Given the description of an element on the screen output the (x, y) to click on. 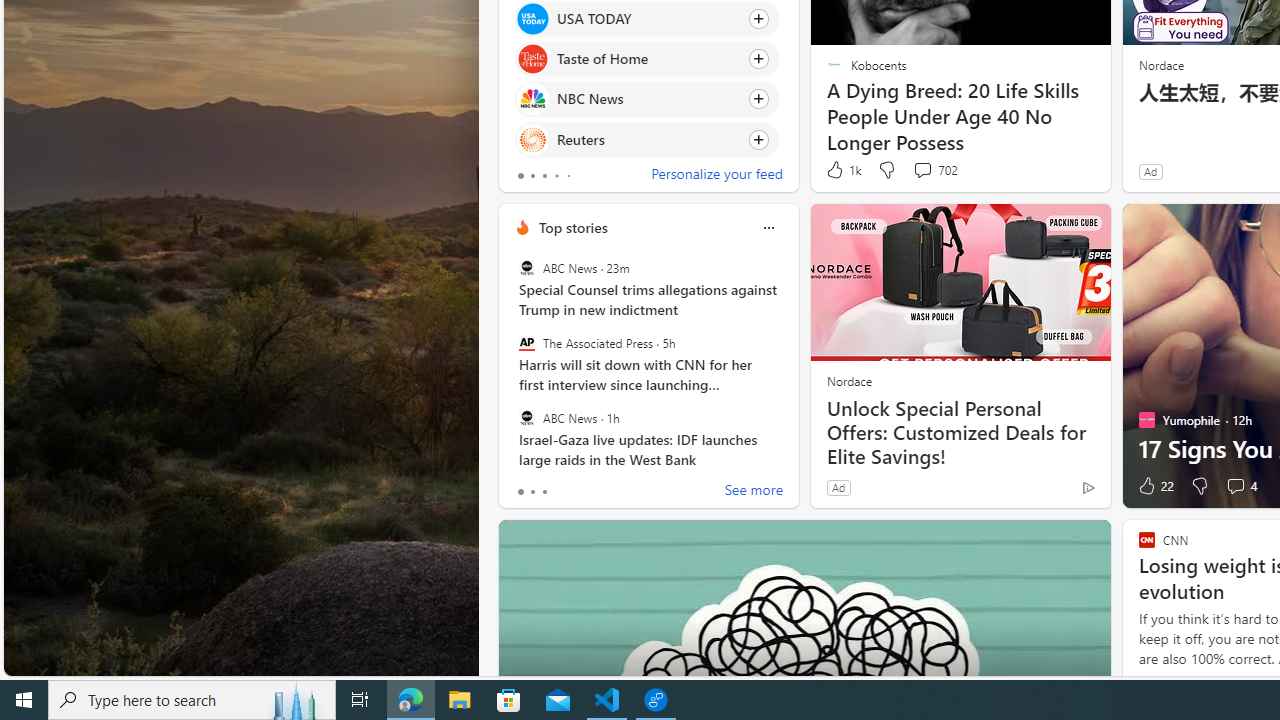
Click to follow source USA TODAY (646, 18)
Personalize your feed (716, 175)
View comments 4 Comment (1240, 485)
Reuters (532, 139)
NBC News (532, 98)
Click to follow source Taste of Home (646, 59)
22 Like (1154, 485)
Click to follow source NBC News (646, 99)
